Given the description of an element on the screen output the (x, y) to click on. 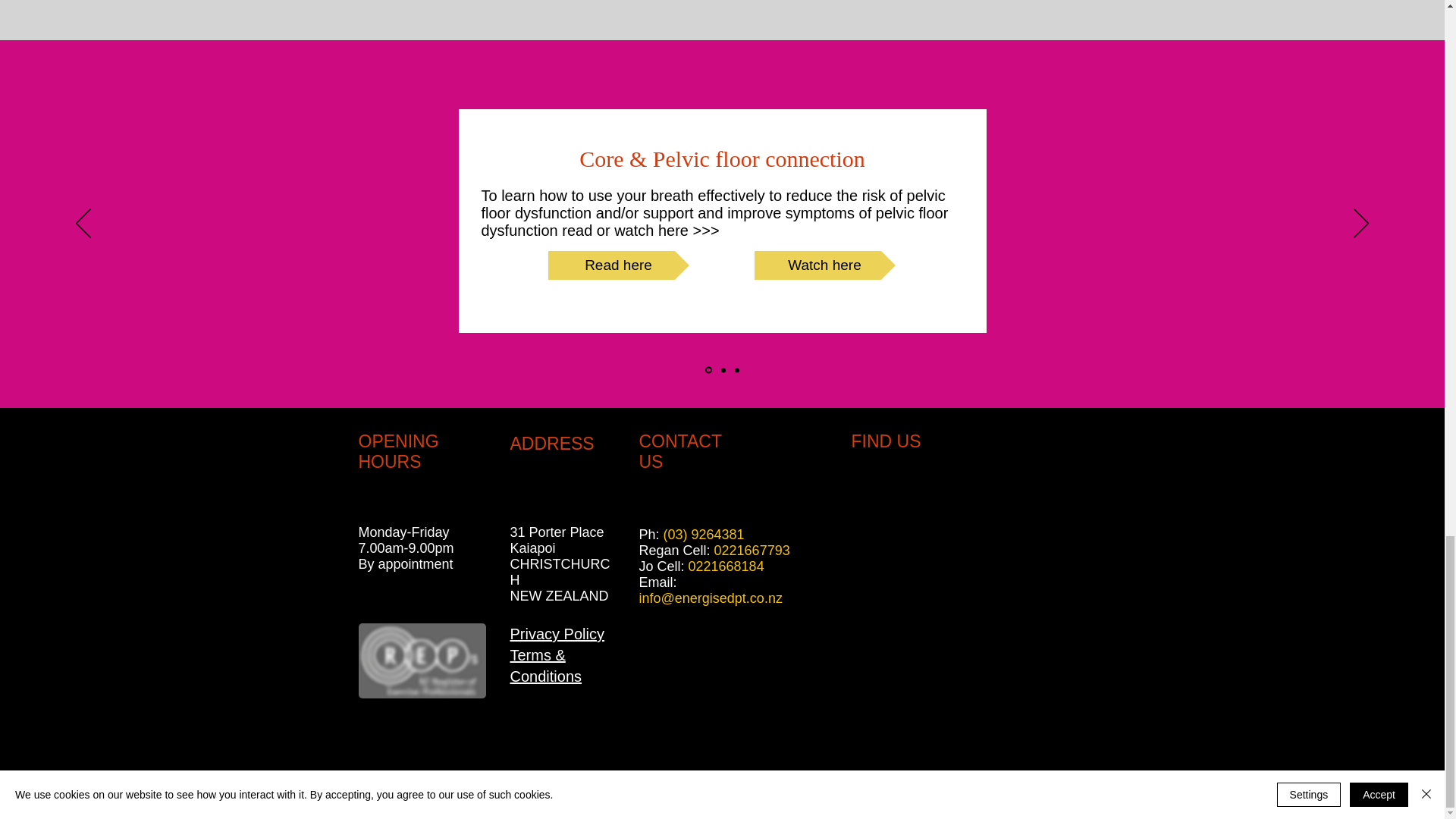
Privacy Policy (556, 633)
Google Maps (962, 607)
0221667793 (752, 549)
Wix.com (918, 808)
Watch here (824, 265)
0221668184 (726, 566)
Facebook Like (668, 745)
Read here (617, 265)
